Given the description of an element on the screen output the (x, y) to click on. 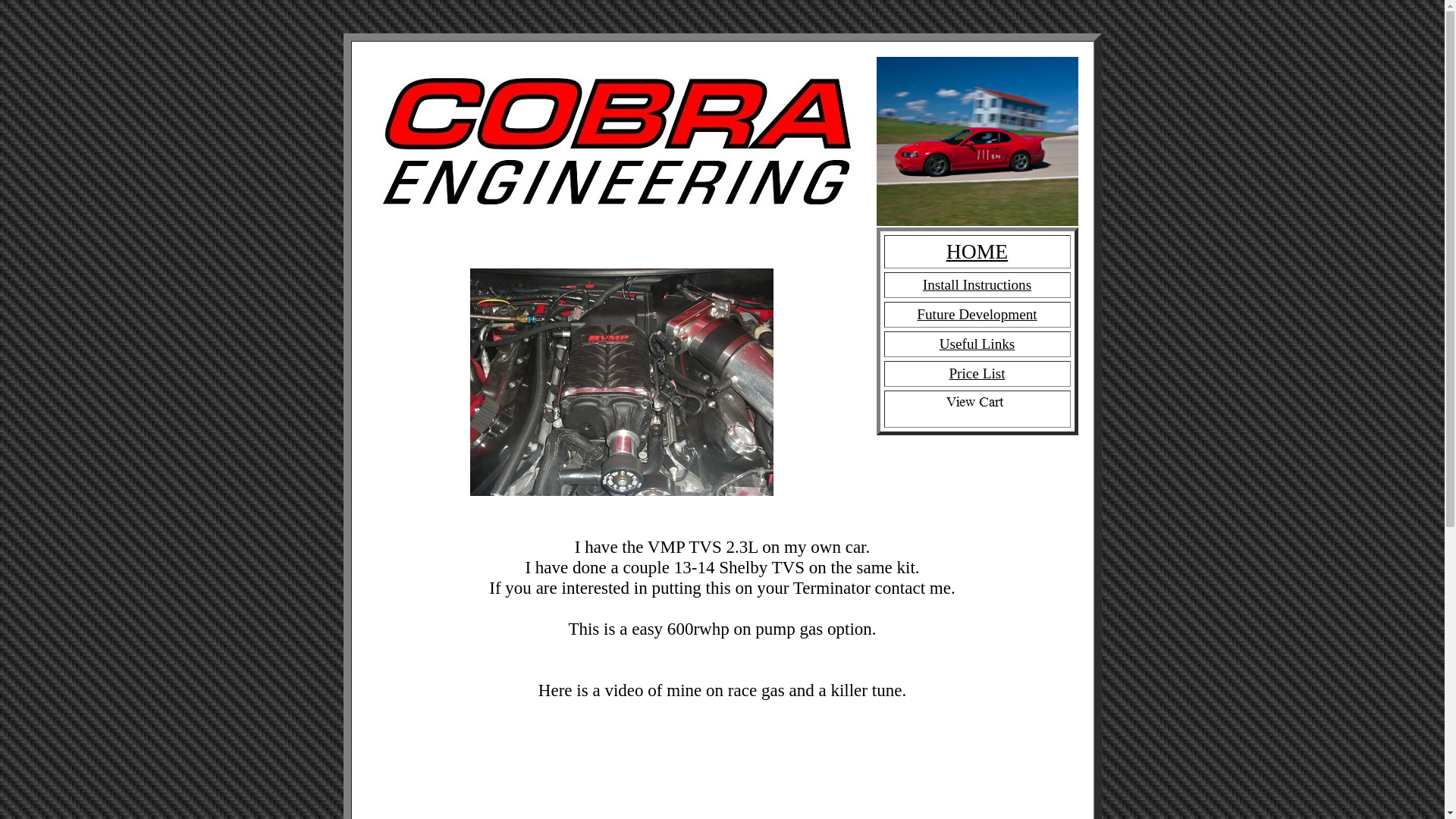
Price List (976, 373)
Install Instructions (976, 285)
HOME (976, 250)
Useful Links (976, 344)
Future Development (976, 314)
